Given the description of an element on the screen output the (x, y) to click on. 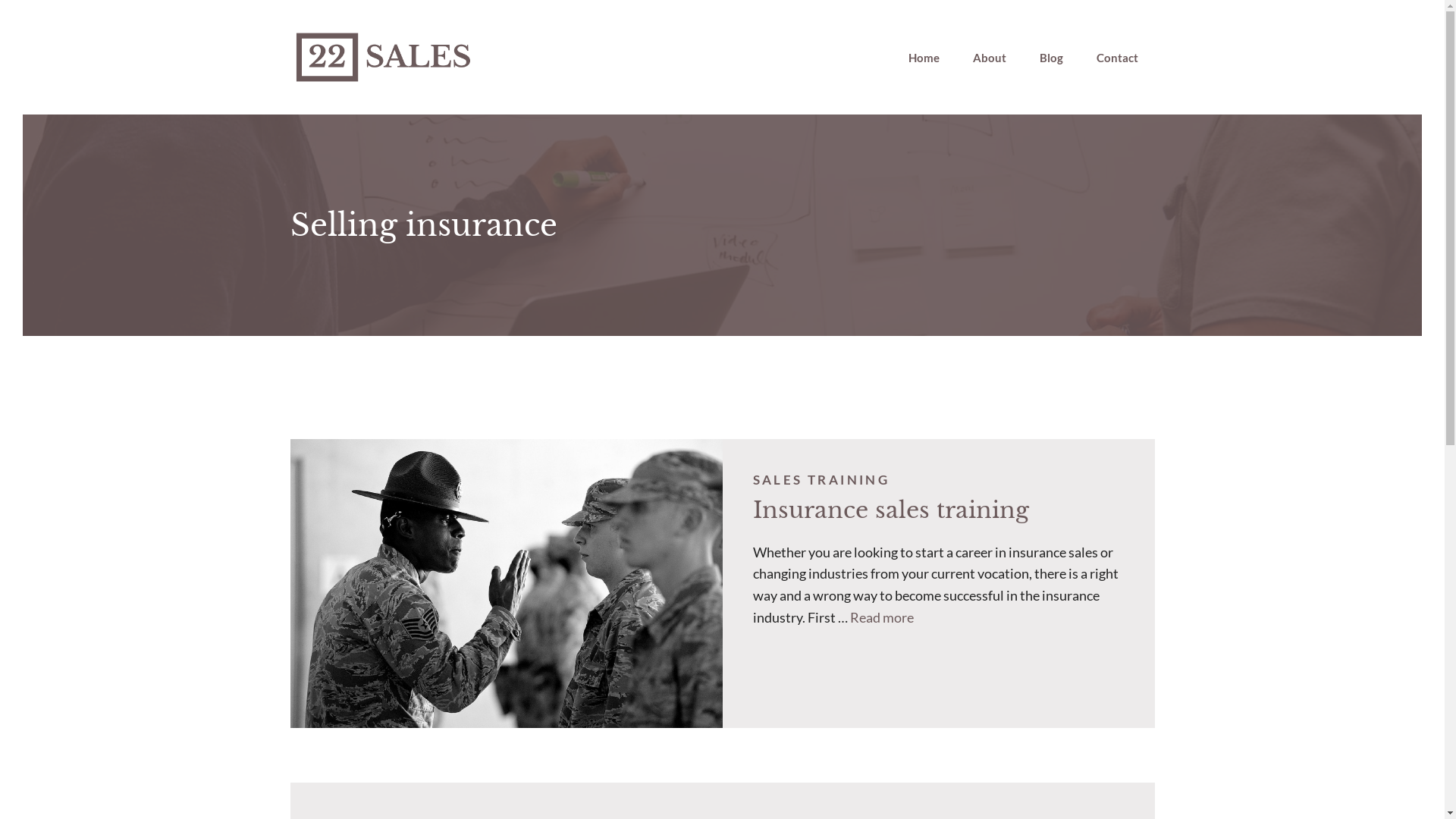
Insurance sales training Element type: text (890, 509)
Blog Element type: text (1050, 57)
About Element type: text (988, 57)
Skip to content Element type: text (21, 21)
Read more Element type: text (881, 616)
Contact Element type: text (1116, 57)
SALES TRAINING Element type: text (820, 479)
Home Element type: text (923, 57)
